Given the description of an element on the screen output the (x, y) to click on. 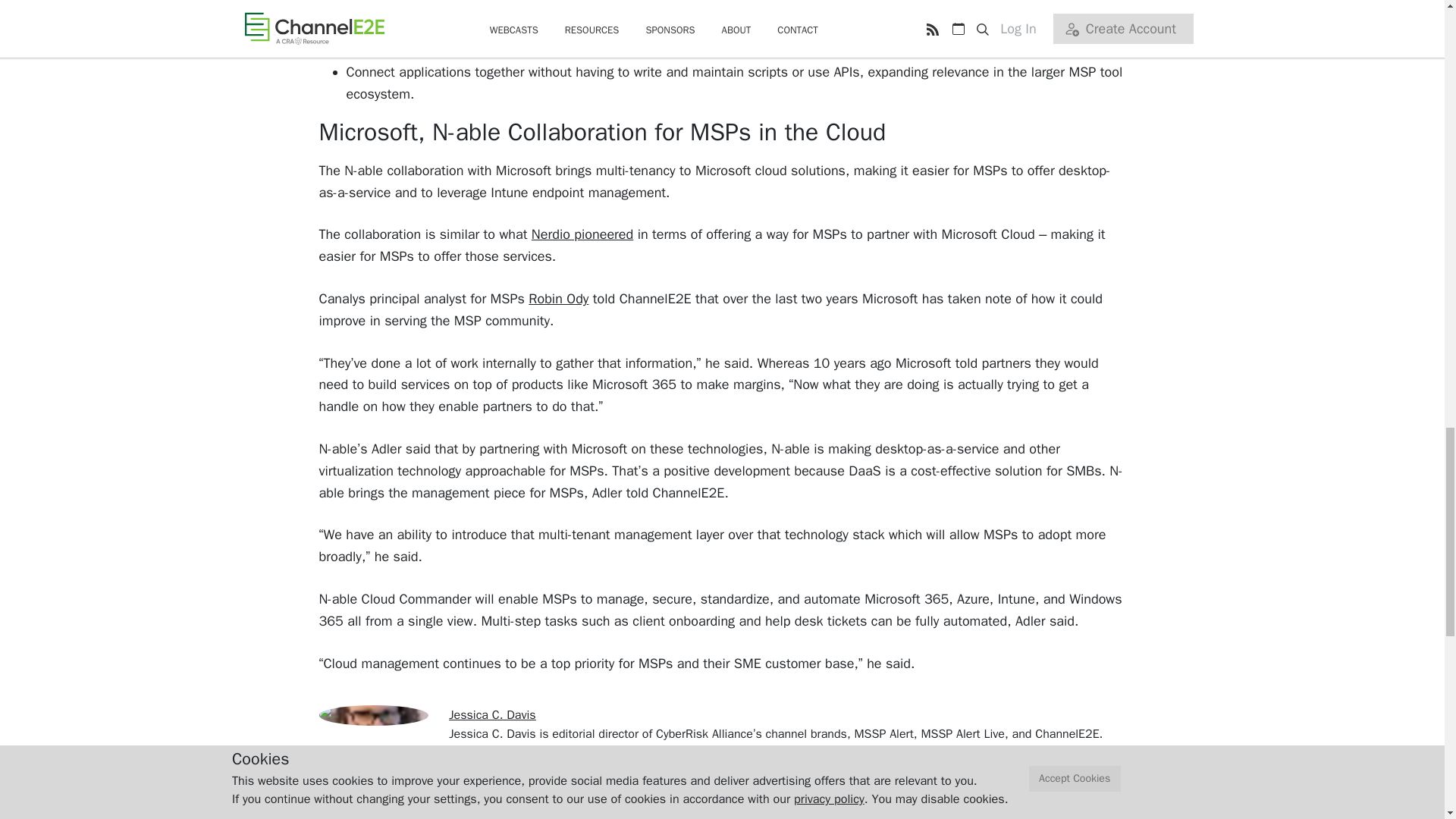
Robin Ody (558, 298)
Jessica C. Davis (491, 714)
Nerdio pioneered (582, 234)
